Given the description of an element on the screen output the (x, y) to click on. 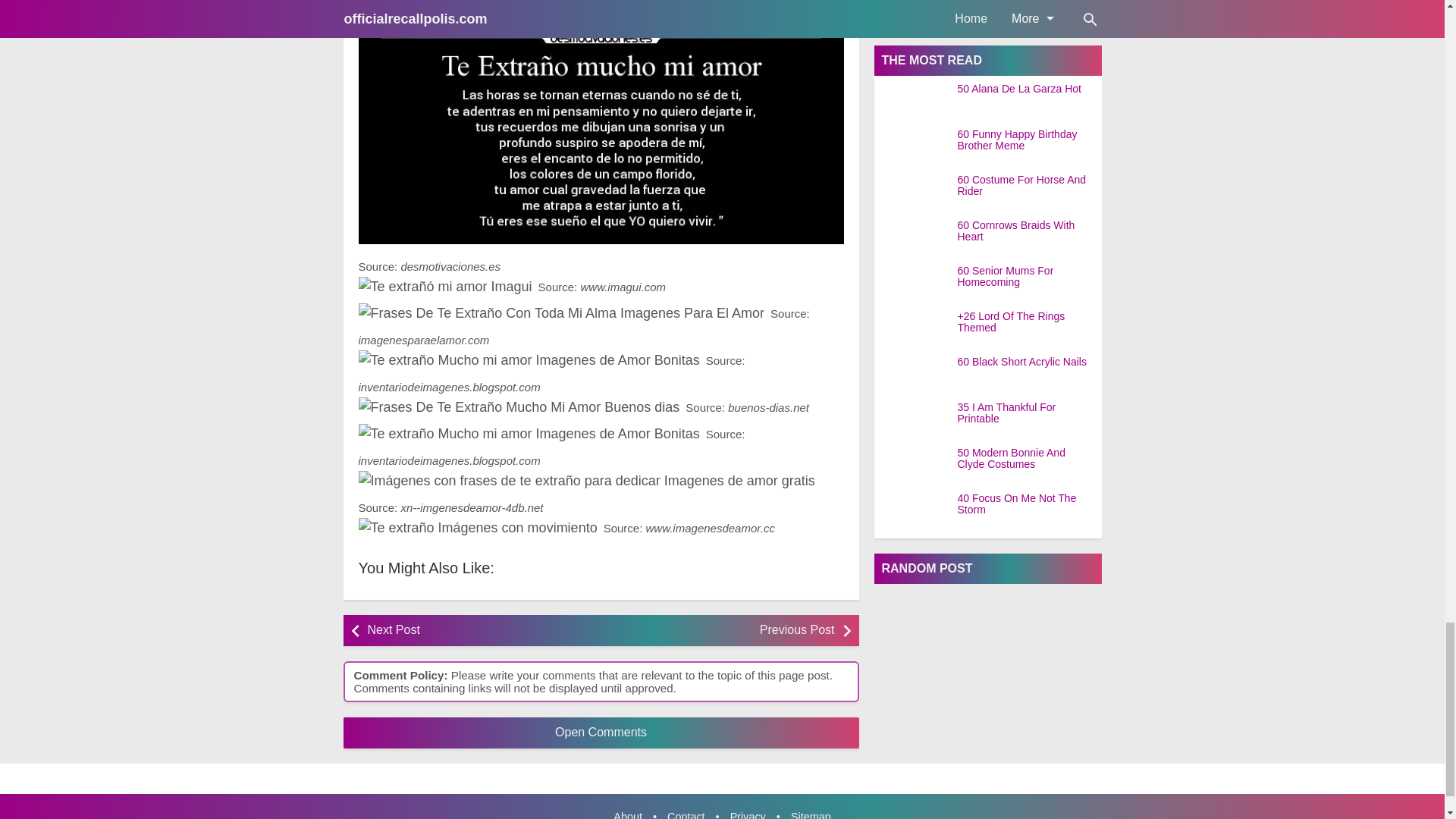
Newer Post (479, 630)
Previous Post (721, 630)
Older Post (721, 630)
Next Post (479, 630)
